Given the description of an element on the screen output the (x, y) to click on. 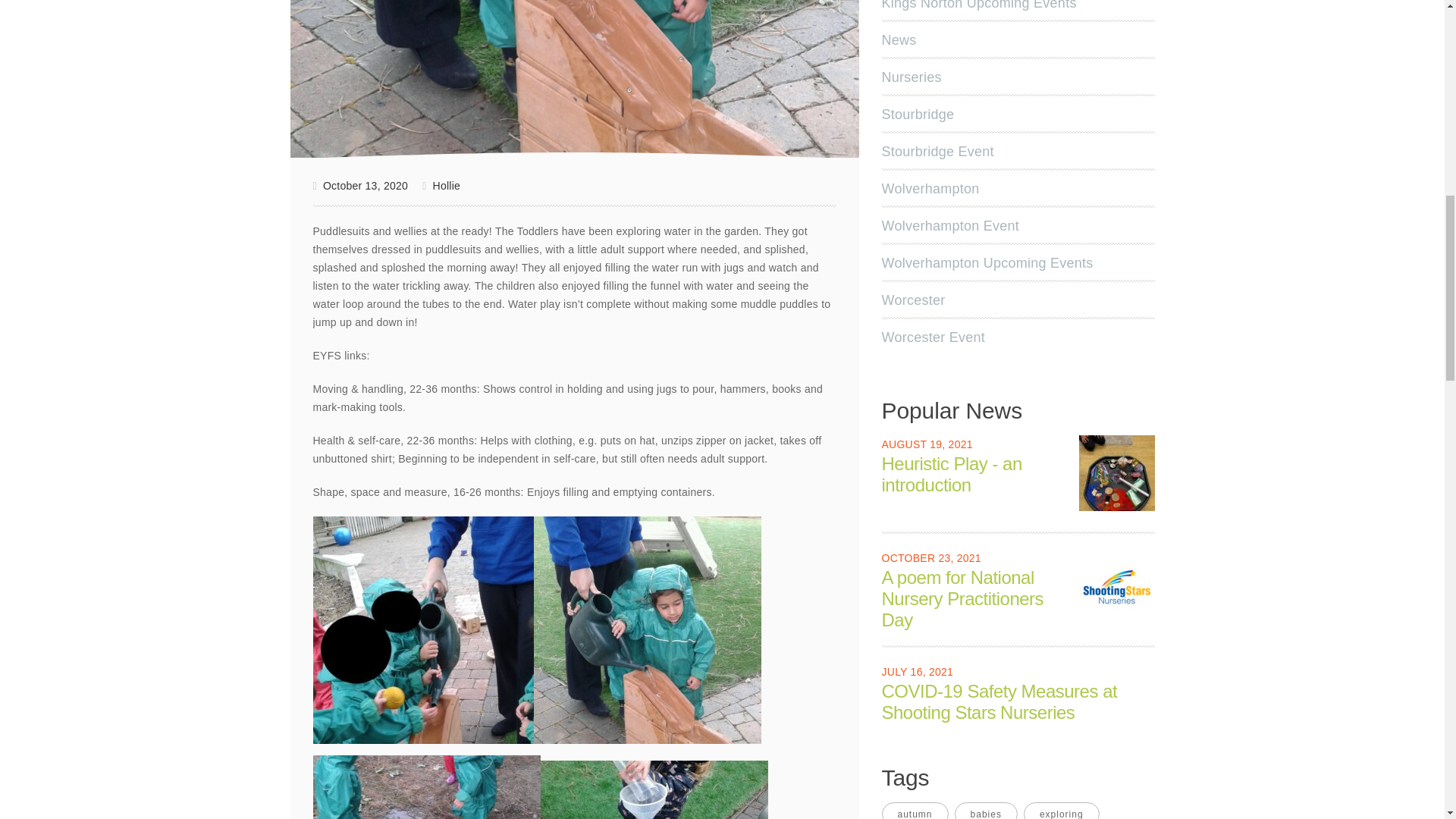
Hollie (441, 185)
Kings Norton Upcoming Events (979, 5)
News (899, 39)
A poem for National Nursery Practitioners Day (1116, 585)
Heuristic Play - an introduction (1116, 471)
October 13, 2020 (360, 185)
Nurseries (912, 77)
Heuristic Play - an introduction (1116, 472)
Stourbridge (918, 114)
A poem for National Nursery Practitioners Day (1116, 586)
